Given the description of an element on the screen output the (x, y) to click on. 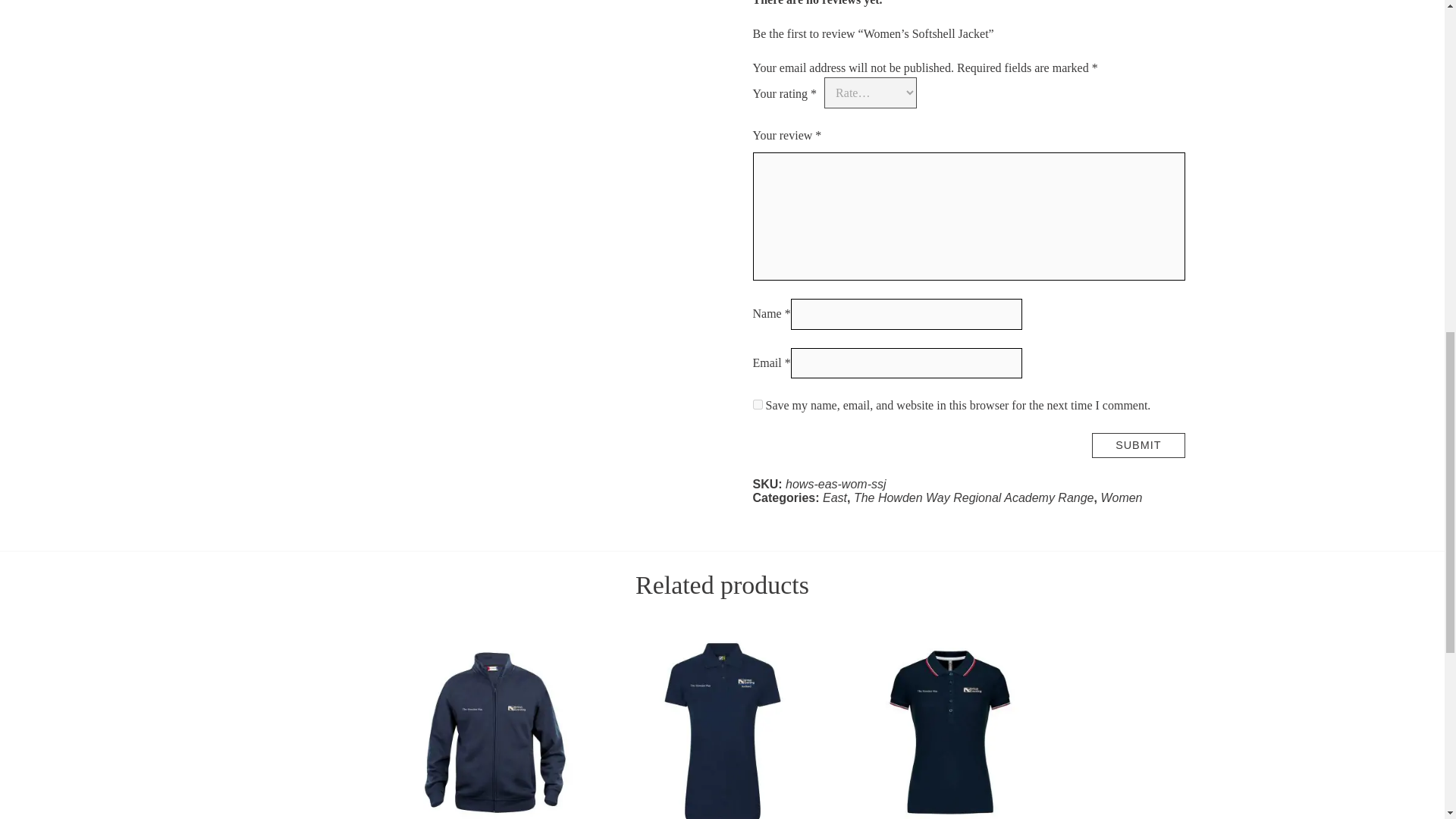
The Howden Way Regional Academy Range (973, 497)
yes (756, 404)
East (834, 497)
Submit (1138, 445)
Women (1120, 497)
Submit (1138, 445)
